Given the description of an element on the screen output the (x, y) to click on. 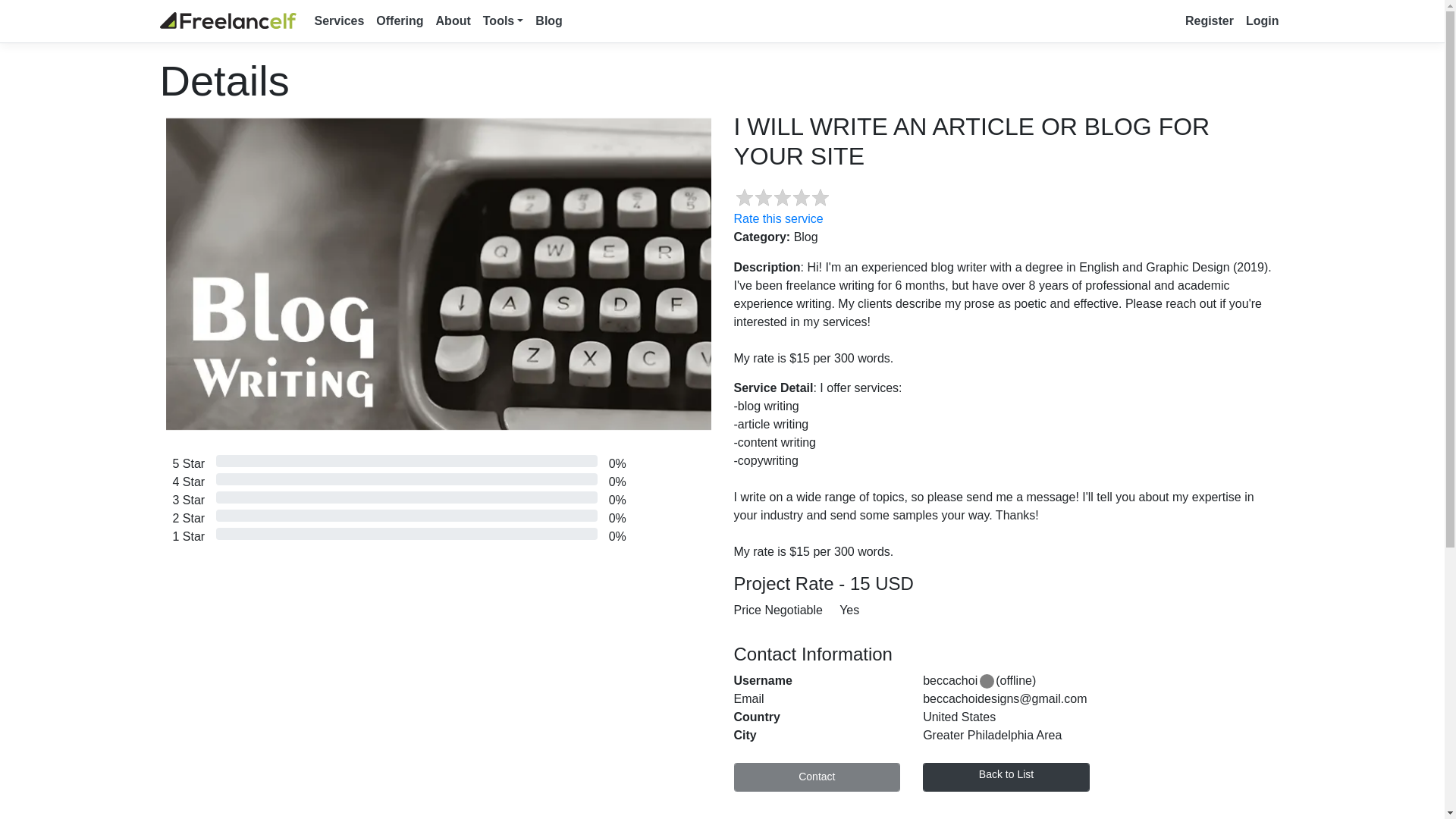
Email (816, 699)
Back to List (1006, 776)
Greater Philadelphia Area (1100, 735)
Country (816, 717)
Services (338, 20)
Register (1209, 20)
United States (1100, 717)
Username (816, 680)
About (453, 20)
Rate this service (778, 218)
